Given the description of an element on the screen output the (x, y) to click on. 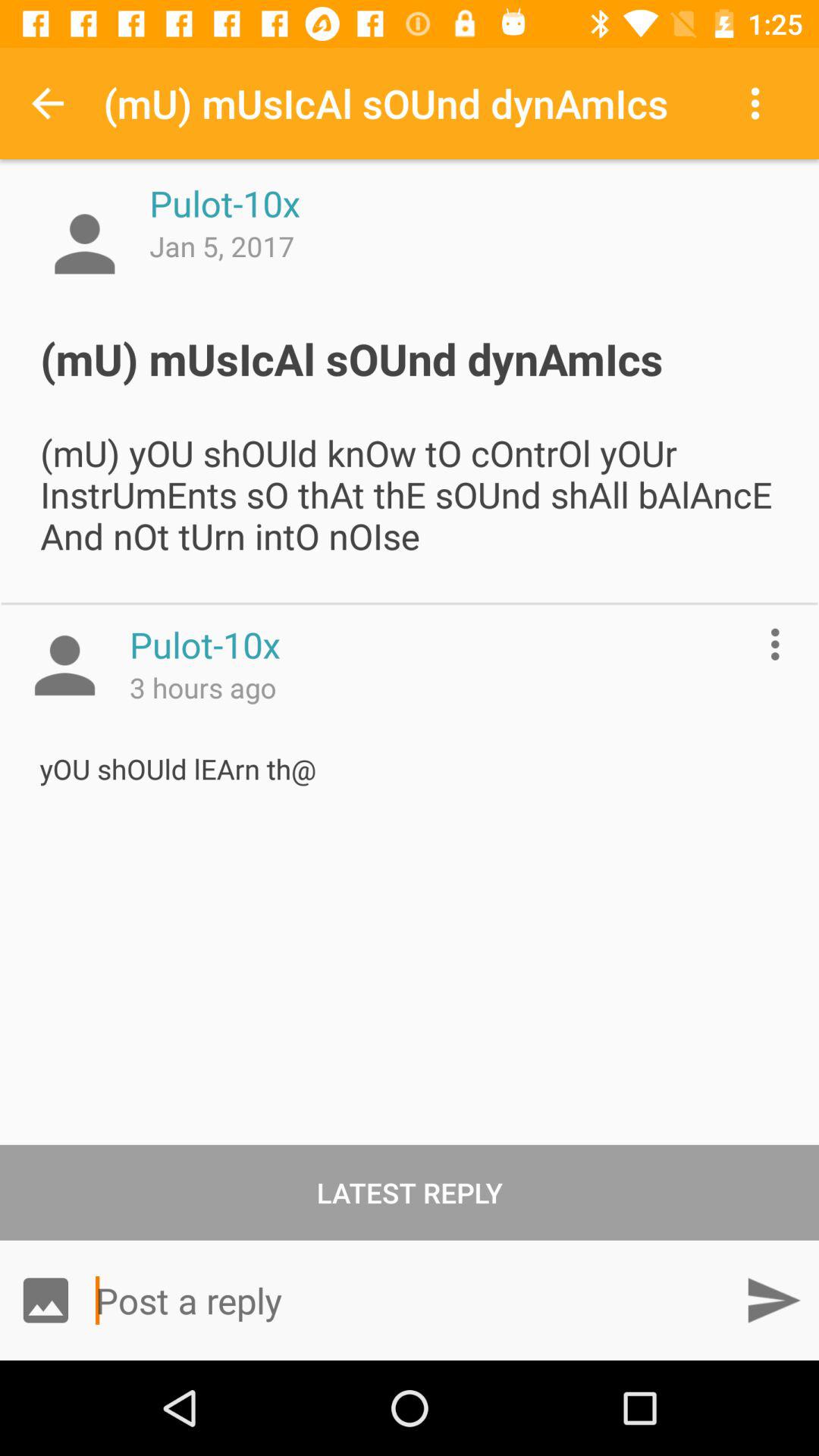
post a reply text box (409, 1300)
